Given the description of an element on the screen output the (x, y) to click on. 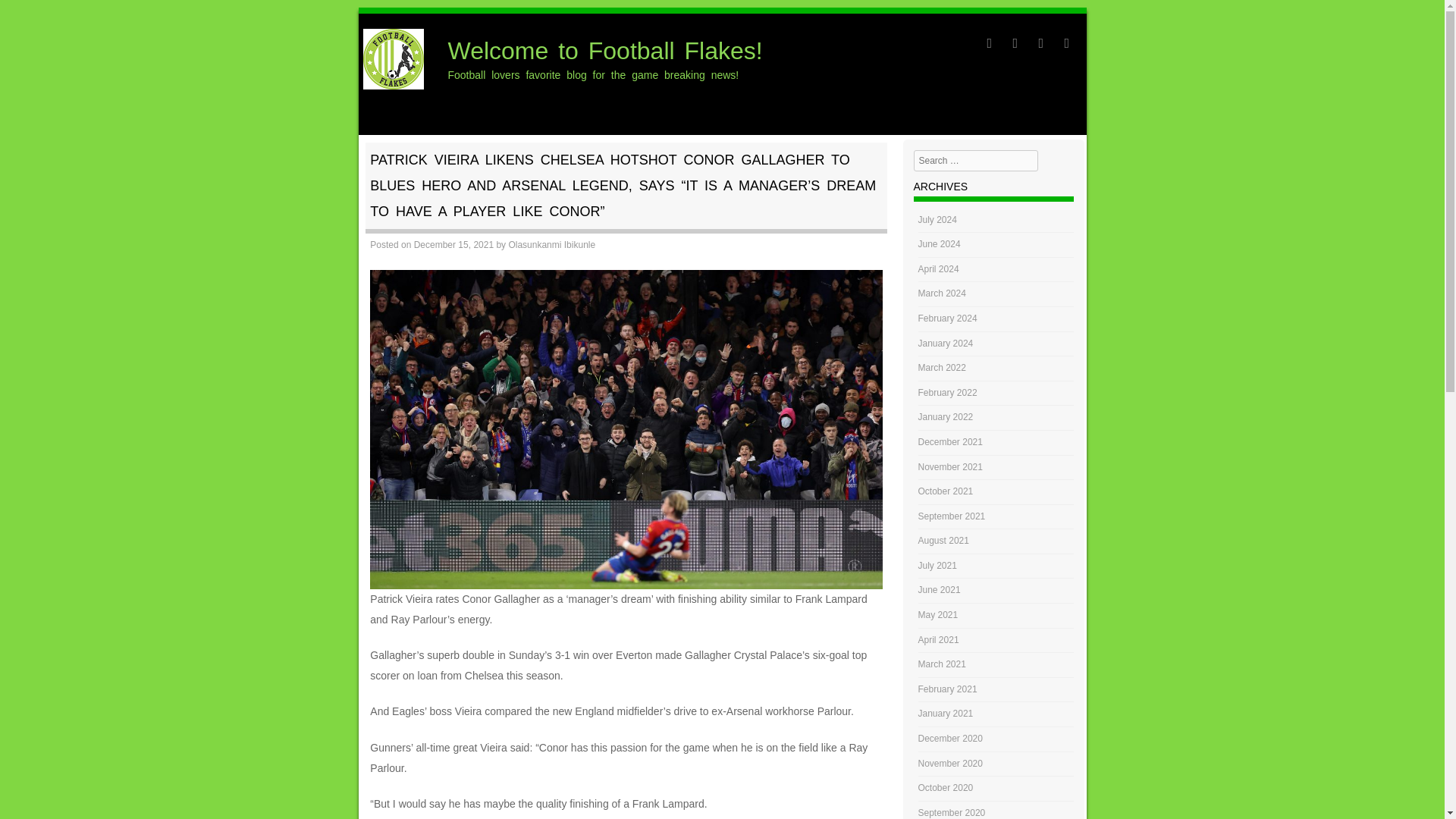
View all posts by Olasunkanmi Ibikunle (551, 244)
Search (33, 17)
March 2024 (942, 293)
Olasunkanmi Ibikunle (551, 244)
December 15, 2021 (453, 244)
Welcome to Football Flakes! (604, 50)
December 2020 (950, 738)
January 2024 (946, 343)
October 2020 (946, 787)
9:06 am (453, 244)
February 2024 (947, 317)
August 2021 (943, 540)
March 2021 (942, 664)
April 2024 (938, 268)
February 2021 (947, 688)
